Given the description of an element on the screen output the (x, y) to click on. 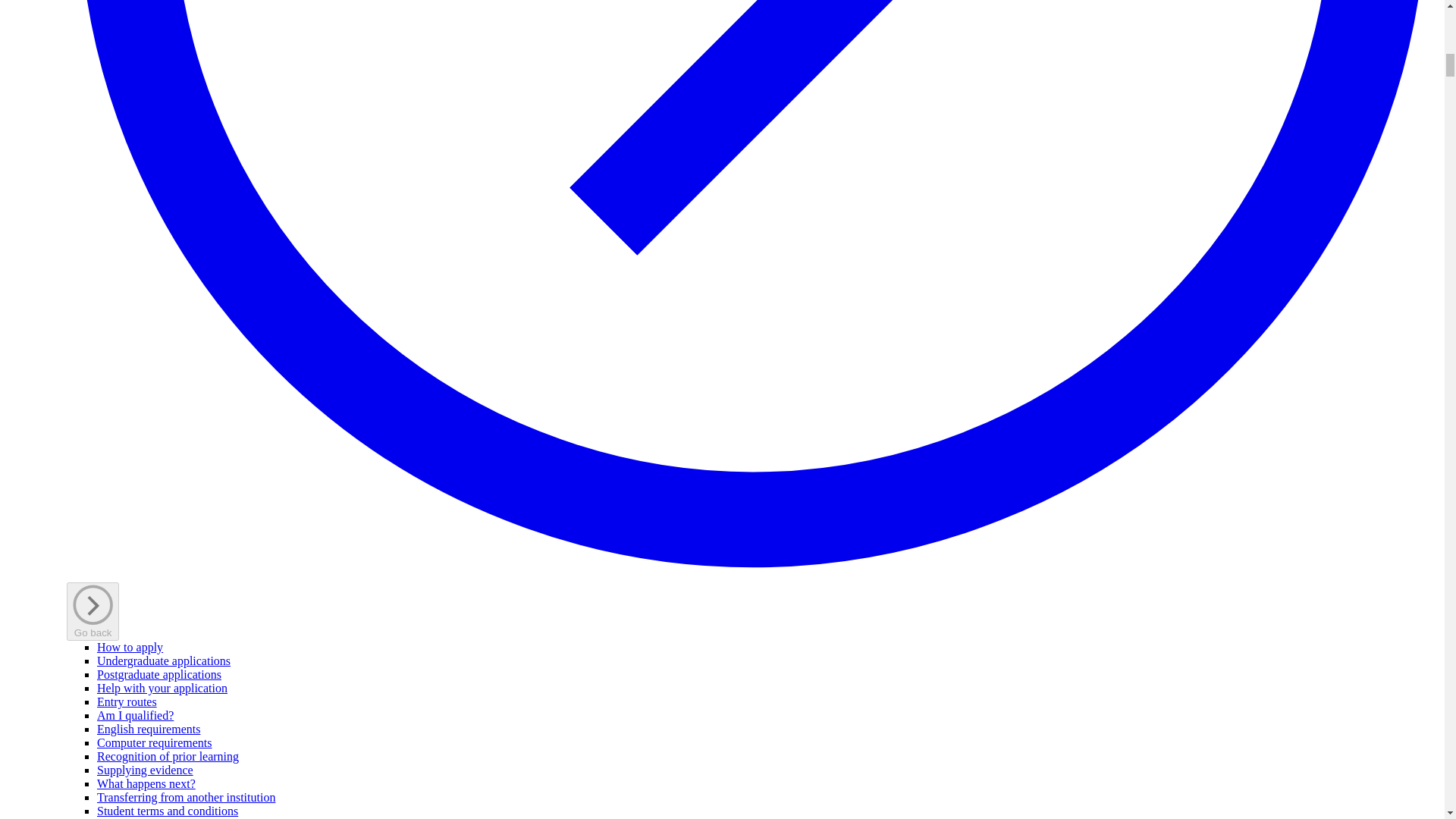
Undergraduate applications (163, 660)
How to apply (130, 646)
Am I qualified? (135, 715)
Postgraduate applications (159, 674)
Transferring from another institution (186, 797)
Help with your application (162, 687)
Supplying evidence (145, 769)
Entry routes (127, 701)
English requirements (148, 728)
